Given the description of an element on the screen output the (x, y) to click on. 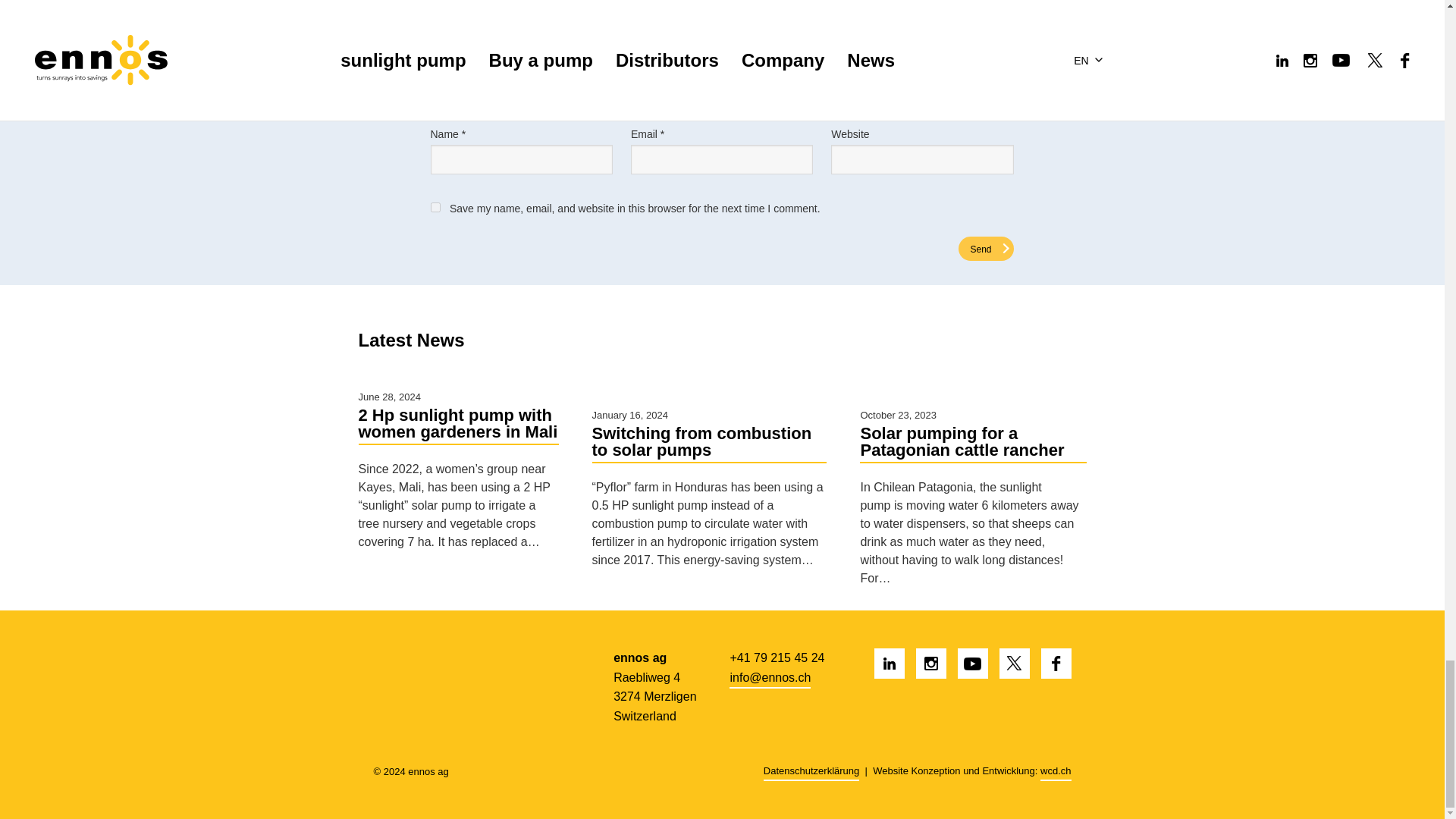
yes (435, 206)
Send (985, 248)
Switching from combustion to solar pumps (709, 444)
Solar pumping for a Patagonian cattle rancher (973, 444)
